Given the description of an element on the screen output the (x, y) to click on. 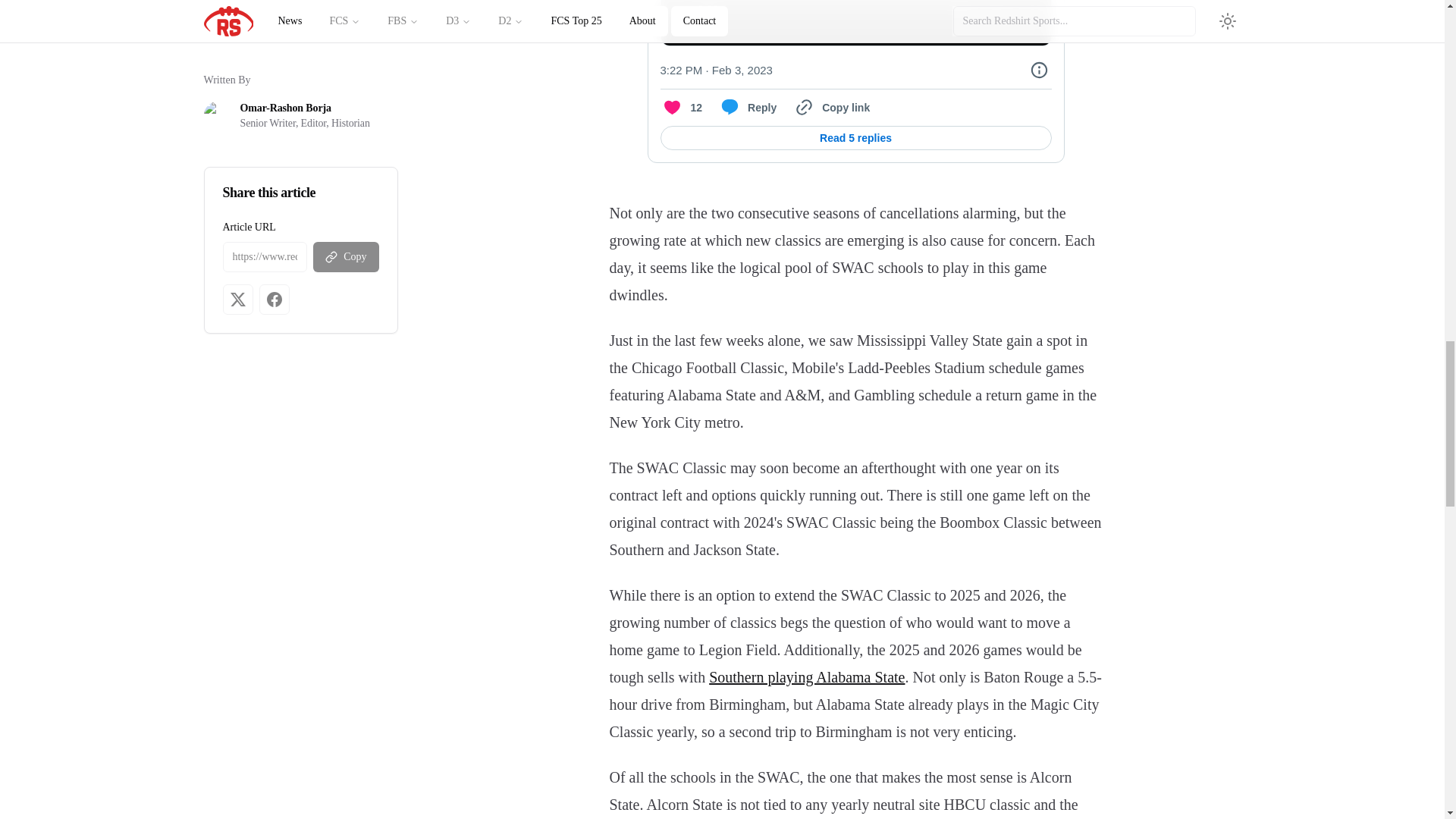
12 (680, 107)
Reply (746, 107)
Southern playing Alabama State (806, 677)
Read 5 replies (855, 137)
Copy link (830, 107)
